Given the description of an element on the screen output the (x, y) to click on. 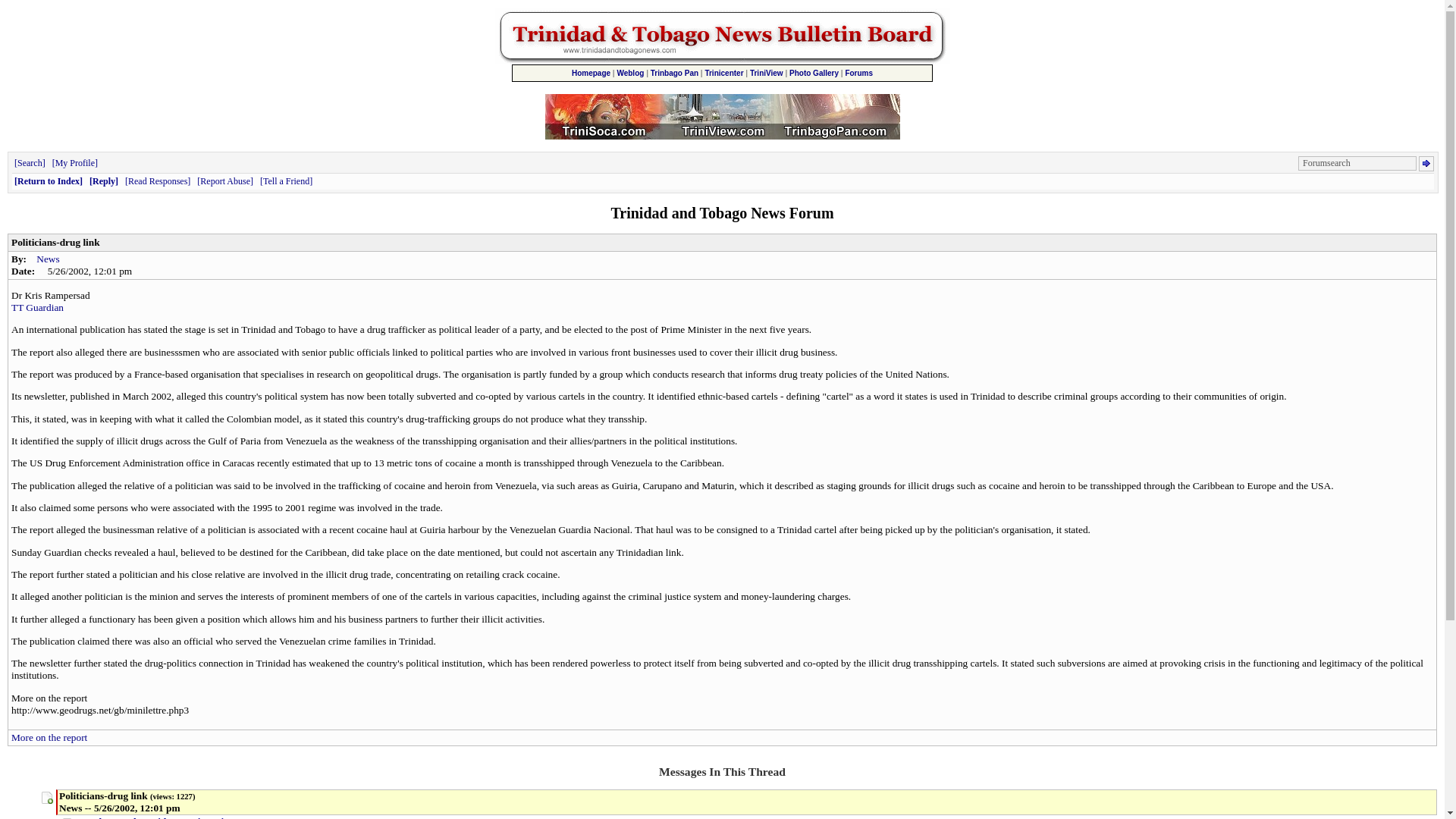
My Profile (74, 163)
Submit (1426, 163)
Tell a Friend (286, 181)
Reply (102, 181)
Return to Index (48, 181)
Basdeo Panday said, Investigate it (153, 817)
News (47, 258)
Trinbago Pan (674, 72)
 Forumsearch (1357, 163)
TT Guardian (37, 307)
More on the report (49, 737)
Report Abuse (224, 181)
Search (29, 163)
